Given the description of an element on the screen output the (x, y) to click on. 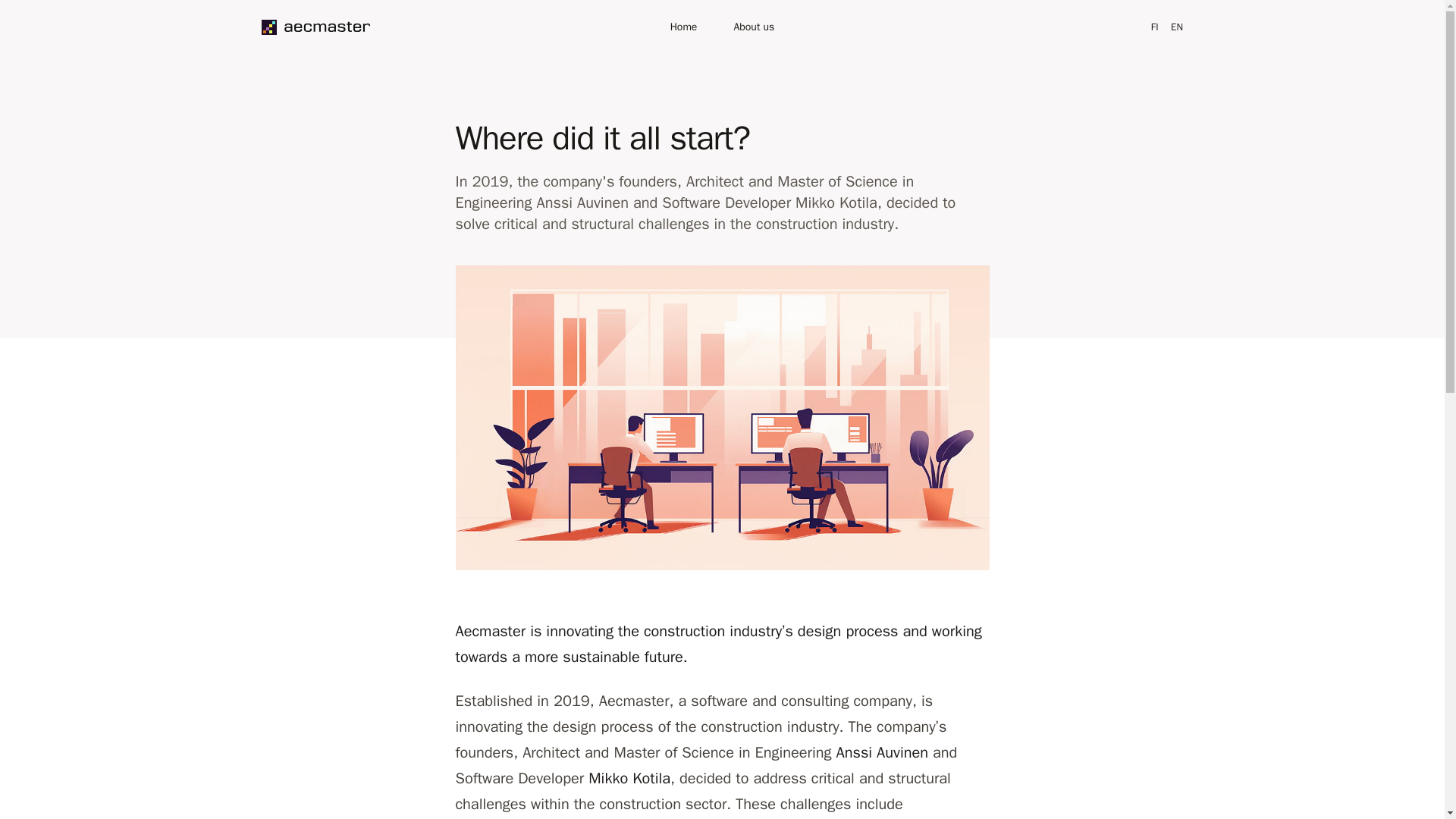
FI (1154, 27)
EN (1176, 27)
Aecmaster (315, 27)
About us (753, 27)
Home (683, 27)
